Given the description of an element on the screen output the (x, y) to click on. 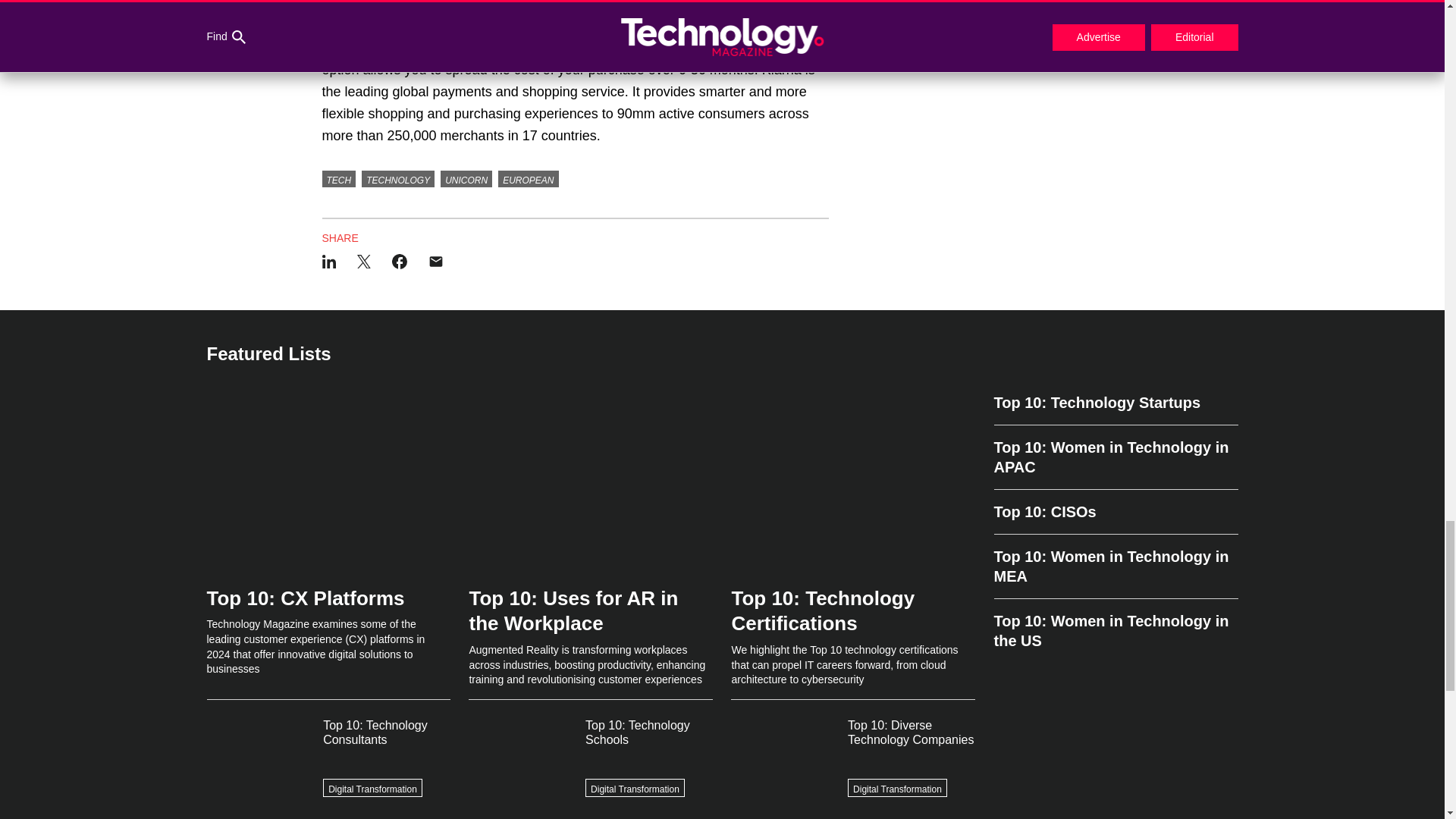
TECH (338, 178)
EUROPEAN (527, 178)
UNICORN (466, 178)
Top 10: Women in Technology in APAC (1114, 457)
Top 10: Technology Startups (1114, 409)
TECHNOLOGY (397, 178)
